Given the description of an element on the screen output the (x, y) to click on. 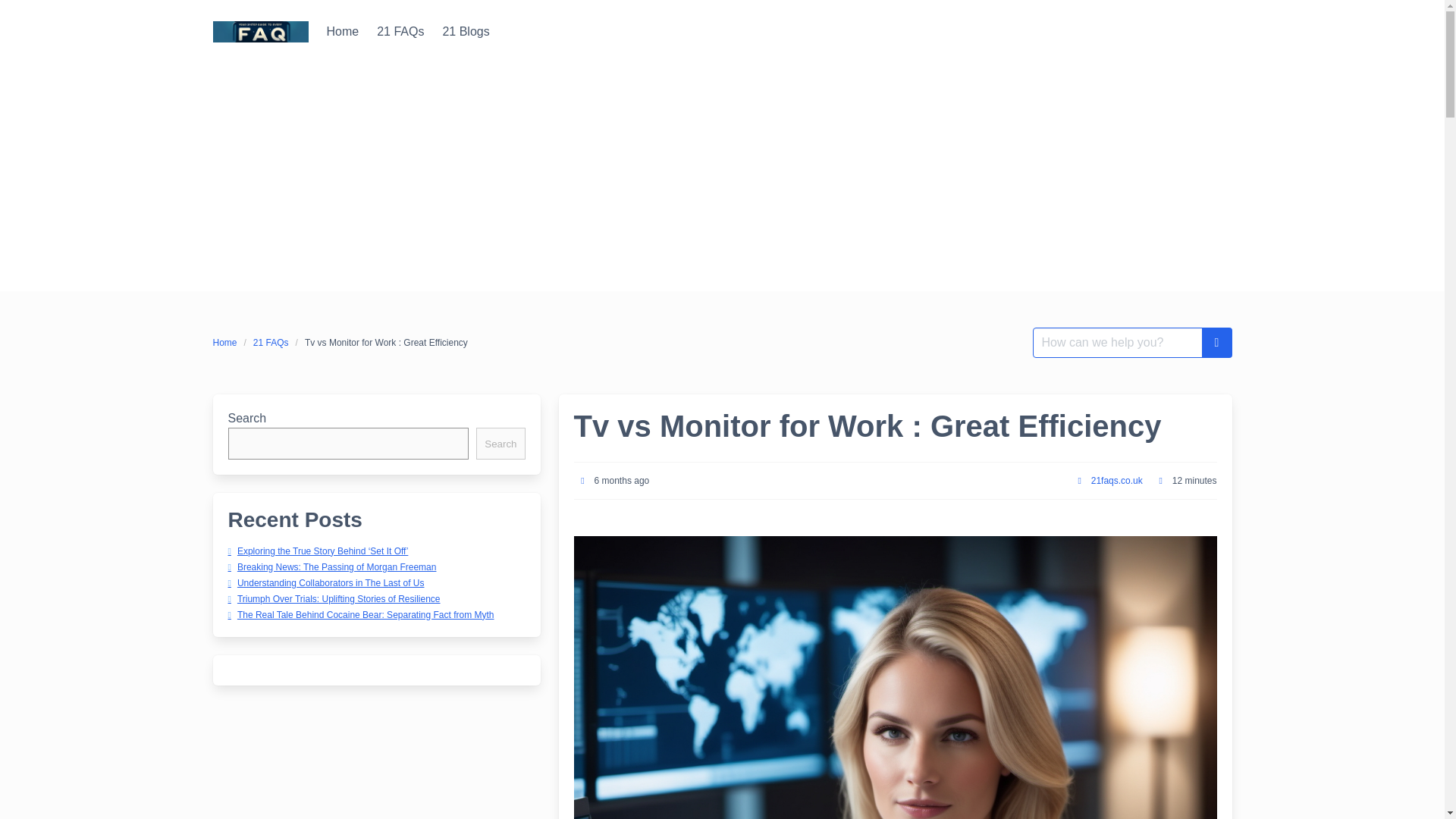
The Real Tale Behind Cocaine Bear: Separating Fact from Myth (360, 614)
21 FAQs (400, 31)
Home (342, 31)
Home (227, 342)
Understanding Collaborators in The Last of Us (325, 583)
Triumph Over Trials: Uplifting Stories of Resilience (333, 597)
21 FAQs (400, 31)
21 FAQs (270, 342)
Tv vs Monitor for Work : Great Efficiency (386, 342)
Home (342, 31)
21 Blogs (464, 31)
21faqs.co.uk (1116, 480)
21 Blogs (464, 31)
